Given the description of an element on the screen output the (x, y) to click on. 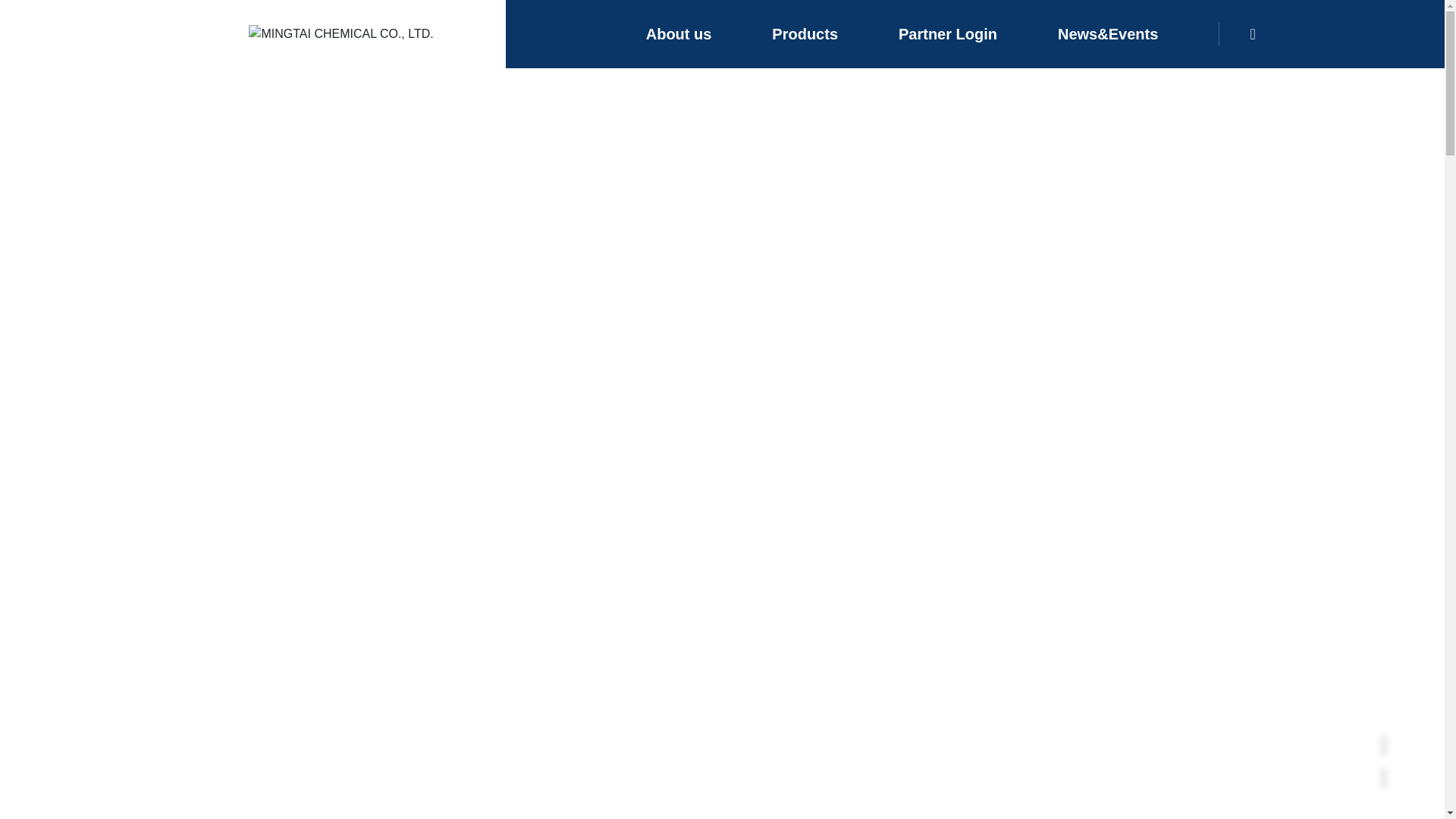
Partner Login (947, 33)
About us (678, 33)
Products (804, 33)
